Given the description of an element on the screen output the (x, y) to click on. 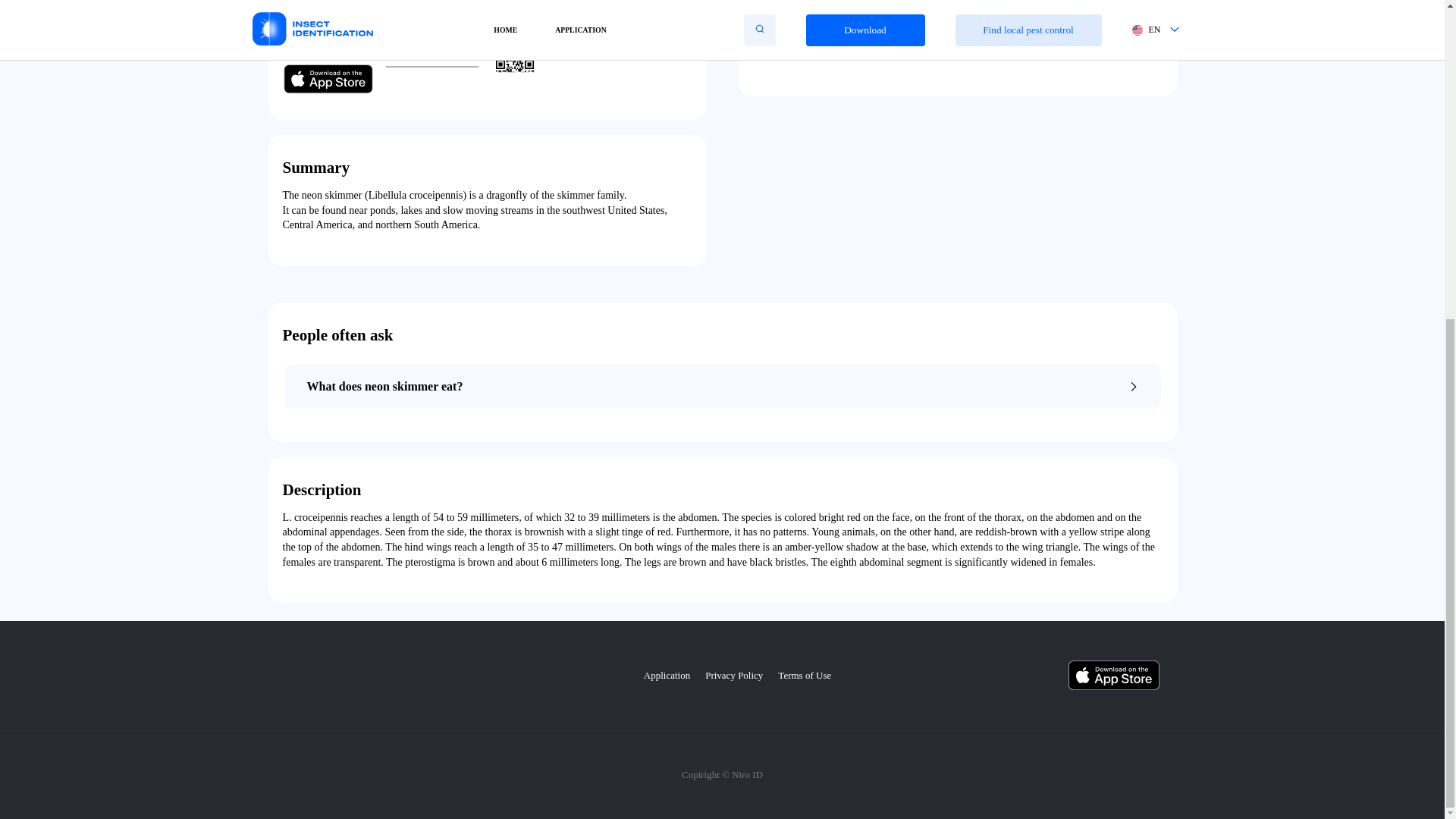
Privacy Policy (733, 675)
Application (666, 675)
Terms of Use (804, 675)
